Given the description of an element on the screen output the (x, y) to click on. 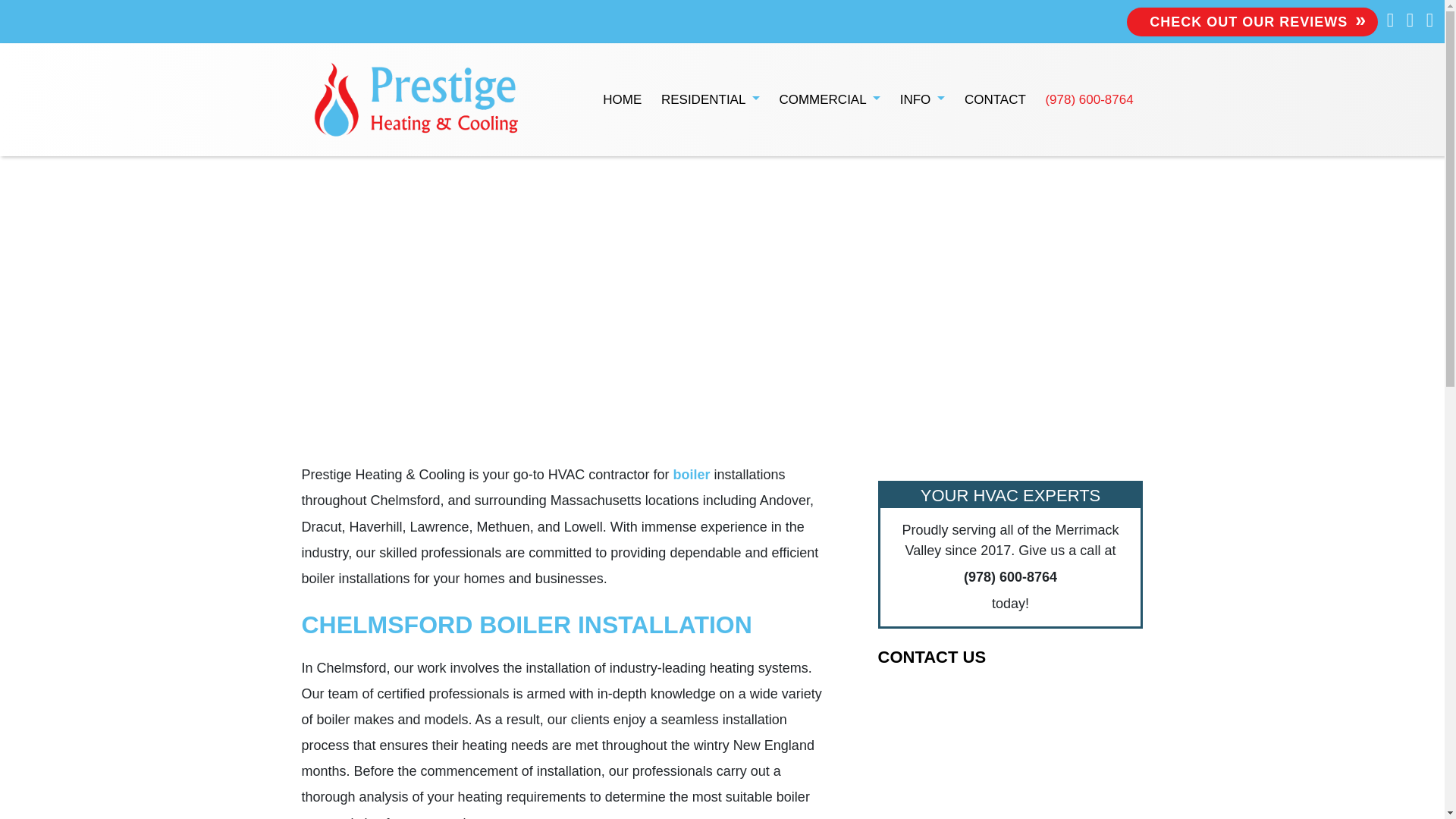
RESIDENTIAL (710, 100)
CHECK OUT OUR REVIEWS (1251, 21)
COMMERCIAL (829, 100)
HOME (623, 100)
INFO (922, 100)
CONTACT (995, 100)
